Given the description of an element on the screen output the (x, y) to click on. 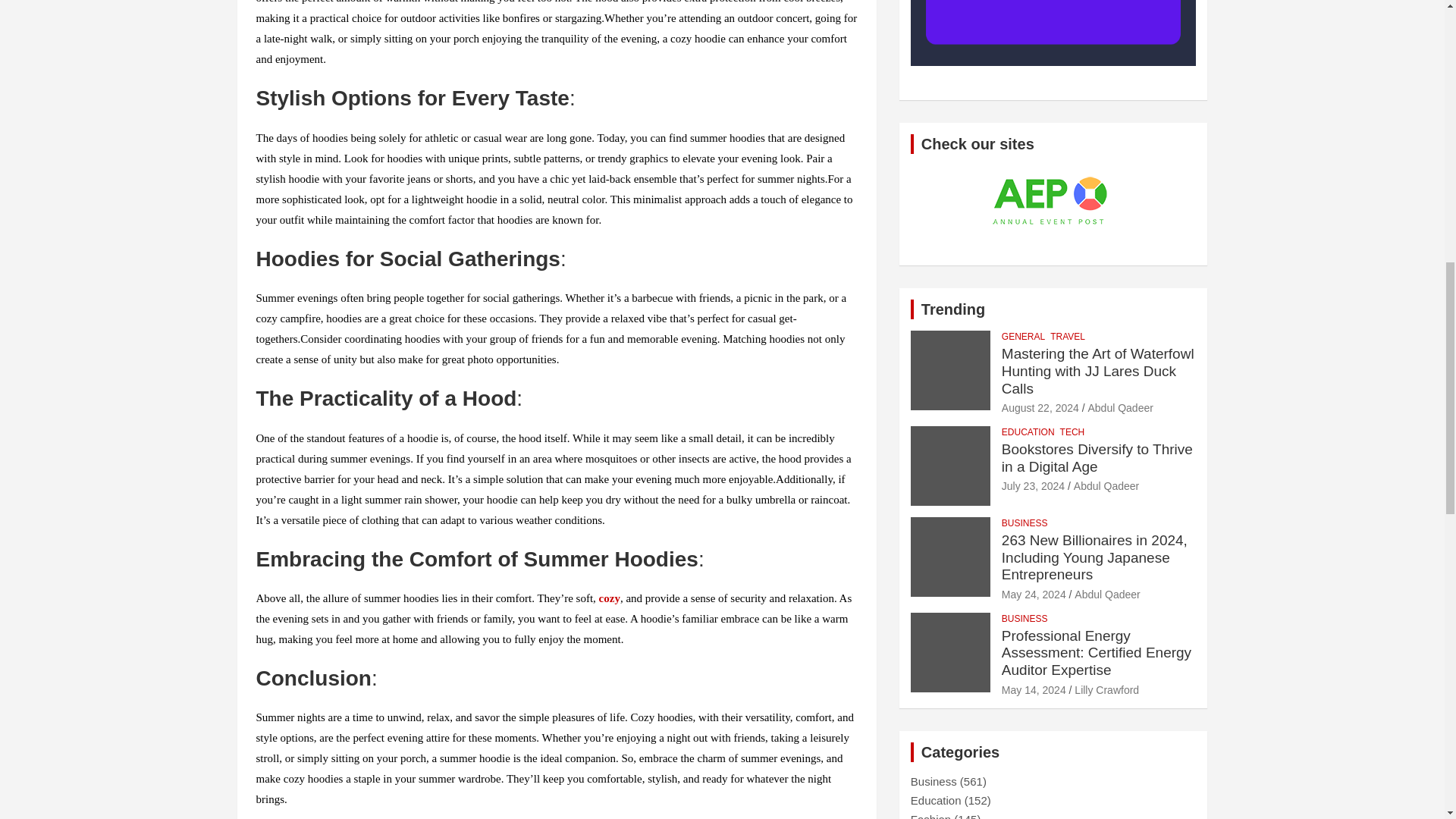
cozy (609, 598)
Bookstores Diversify to Thrive in a Digital Age (1032, 485)
Trending (953, 309)
